Given the description of an element on the screen output the (x, y) to click on. 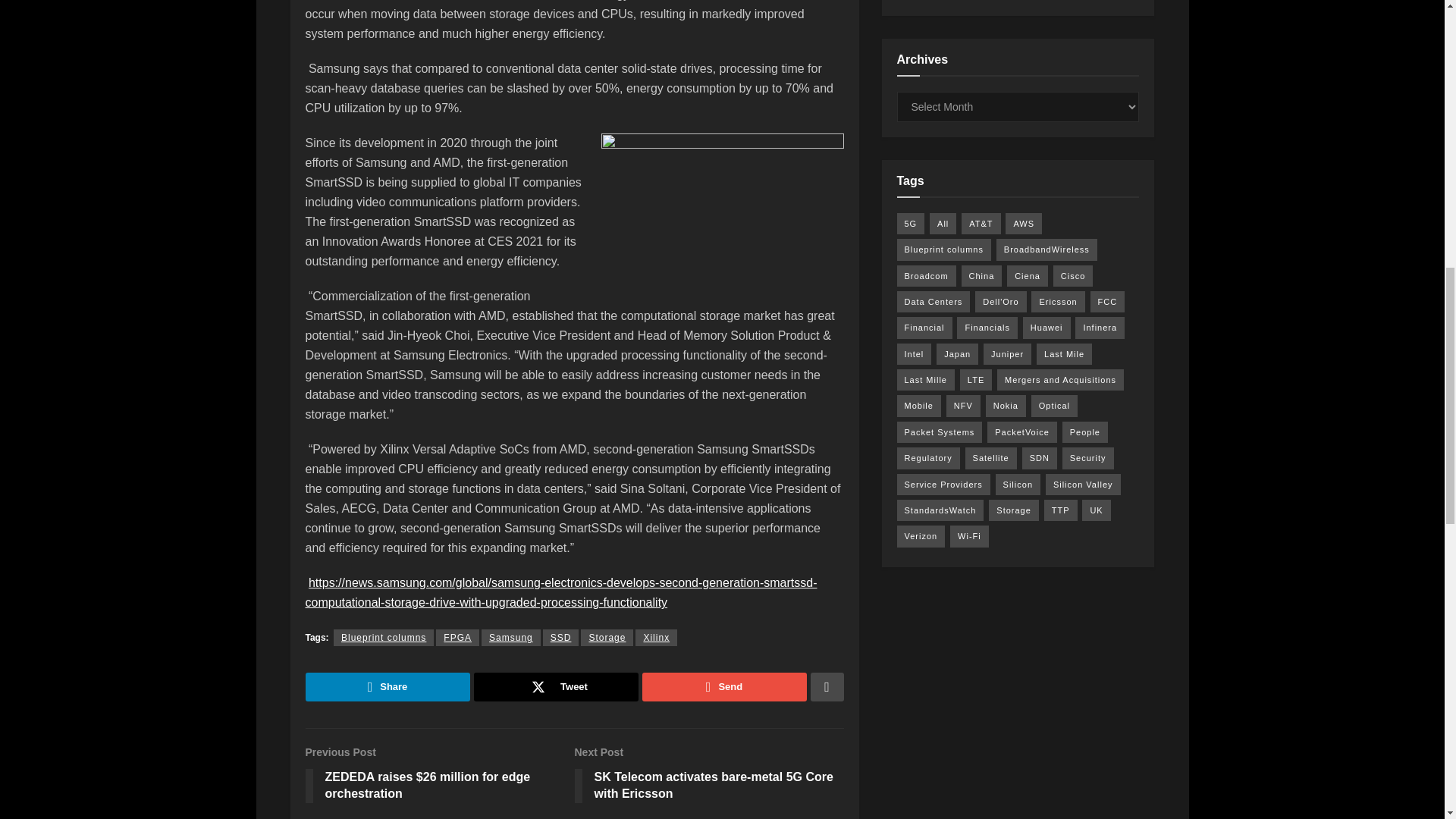
Xilinx (655, 637)
Storage (606, 637)
SSD (561, 637)
FPGA (457, 637)
Share (386, 686)
Blueprint columns (383, 637)
Samsung (510, 637)
